Given the description of an element on the screen output the (x, y) to click on. 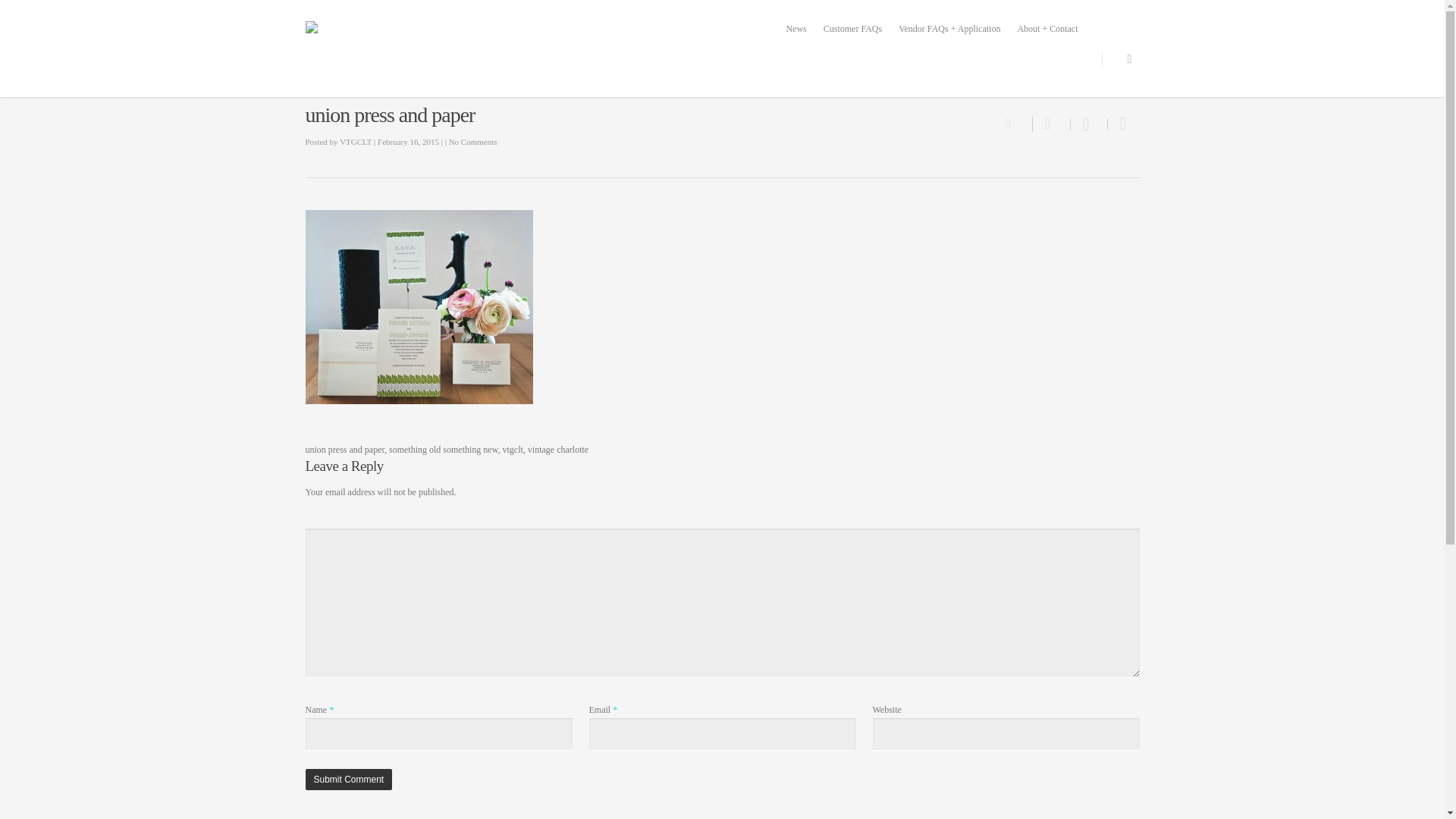
No Comments (472, 141)
News (795, 28)
Tweet this (1089, 123)
Customer FAQs (852, 28)
Posts by VTGCLT (355, 141)
Submit Comment (347, 779)
Submit Comment (347, 779)
Share this (1051, 123)
VTGCLT (355, 141)
Love this (1018, 122)
